Given the description of an element on the screen output the (x, y) to click on. 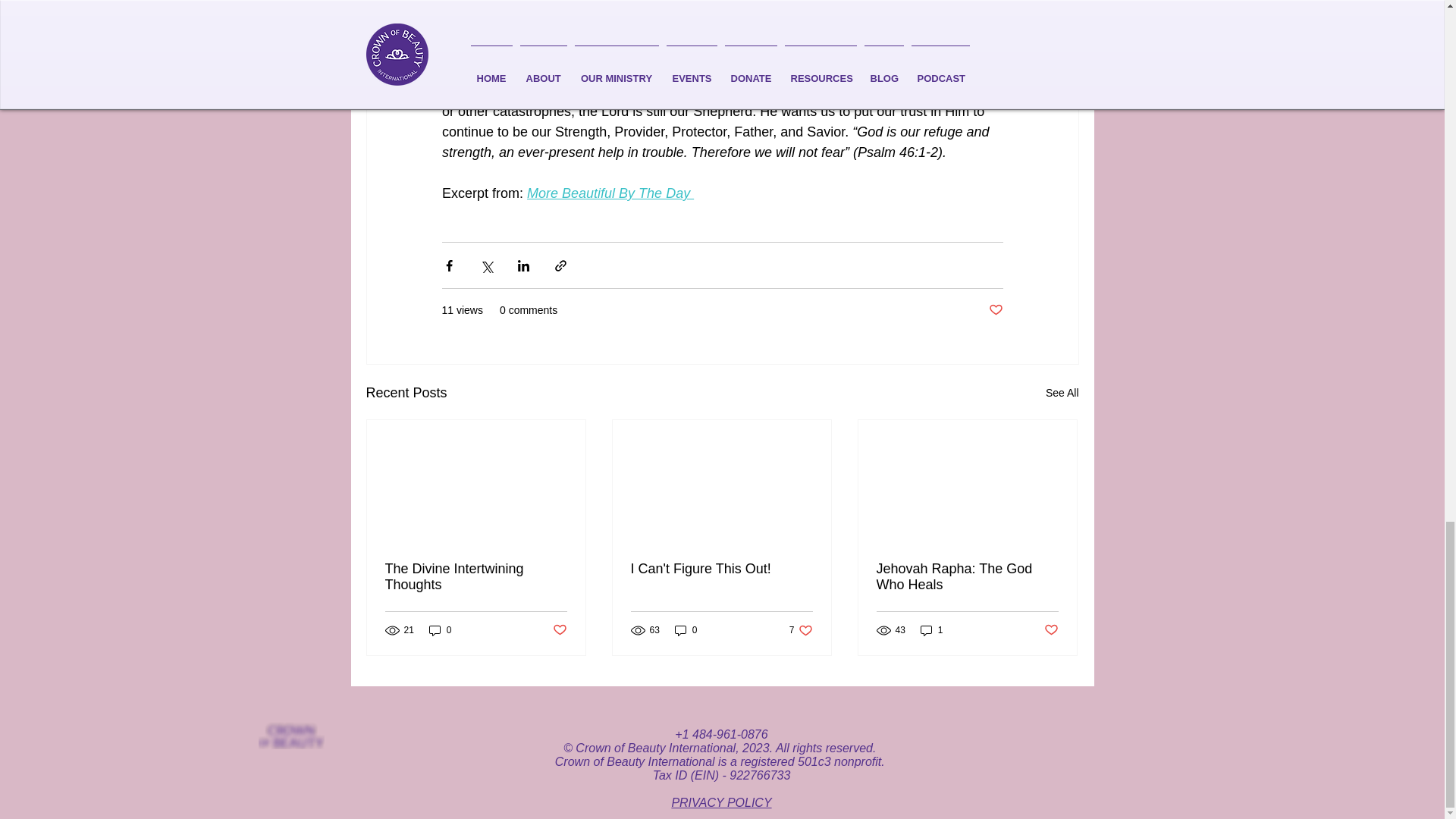
See All (1061, 393)
More Beautiful By The Day  (610, 192)
1 (931, 630)
Post not marked as liked (558, 630)
Post not marked as liked (1050, 630)
0 (685, 630)
Post not marked as liked (995, 310)
I Can't Figure This Out! (800, 630)
Jehovah Rapha: The God Who Heals (721, 569)
0 (967, 576)
The Divine Intertwining Thoughts (440, 630)
